Given the description of an element on the screen output the (x, y) to click on. 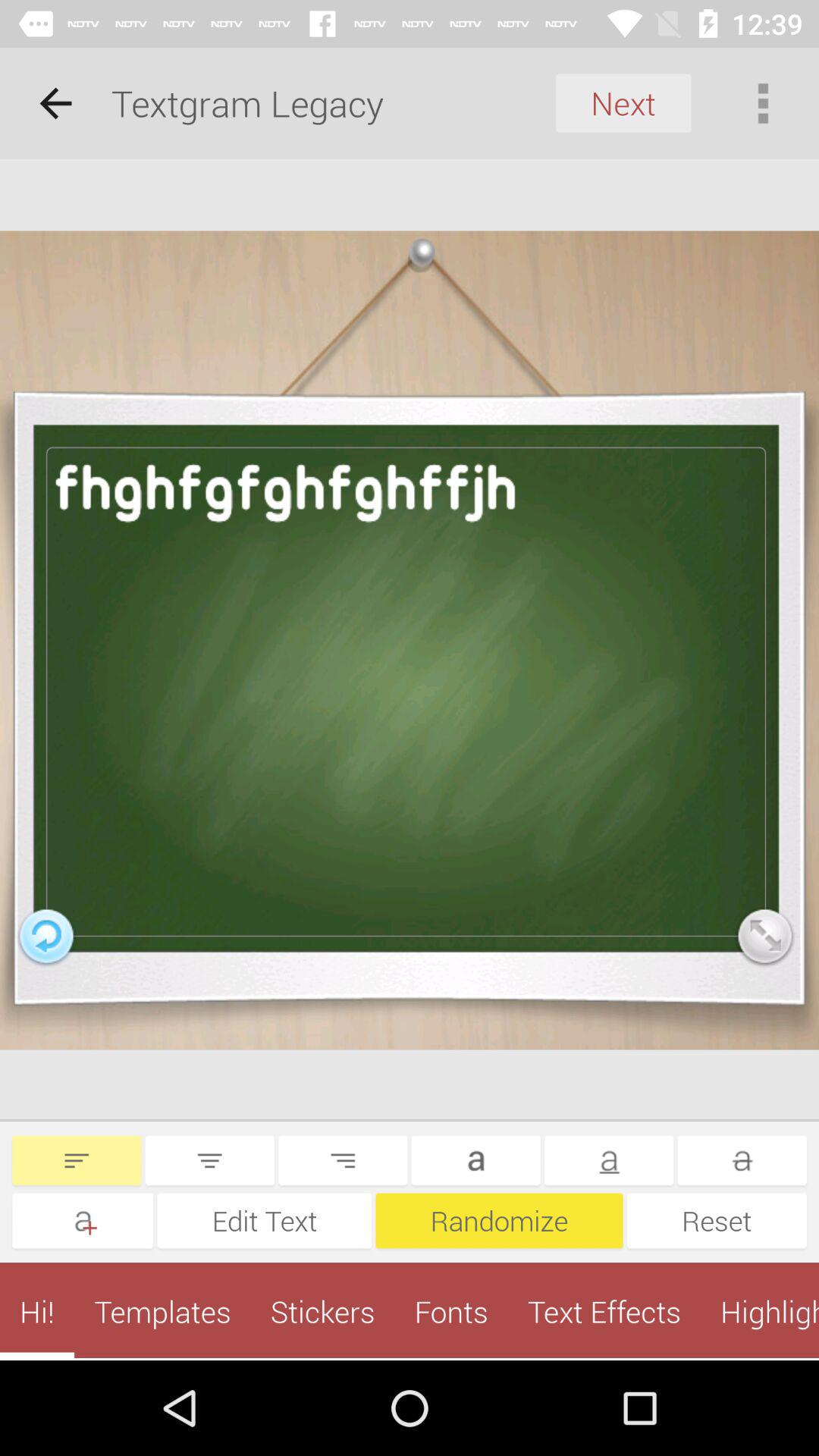
jump to the next icon (623, 102)
